Given the description of an element on the screen output the (x, y) to click on. 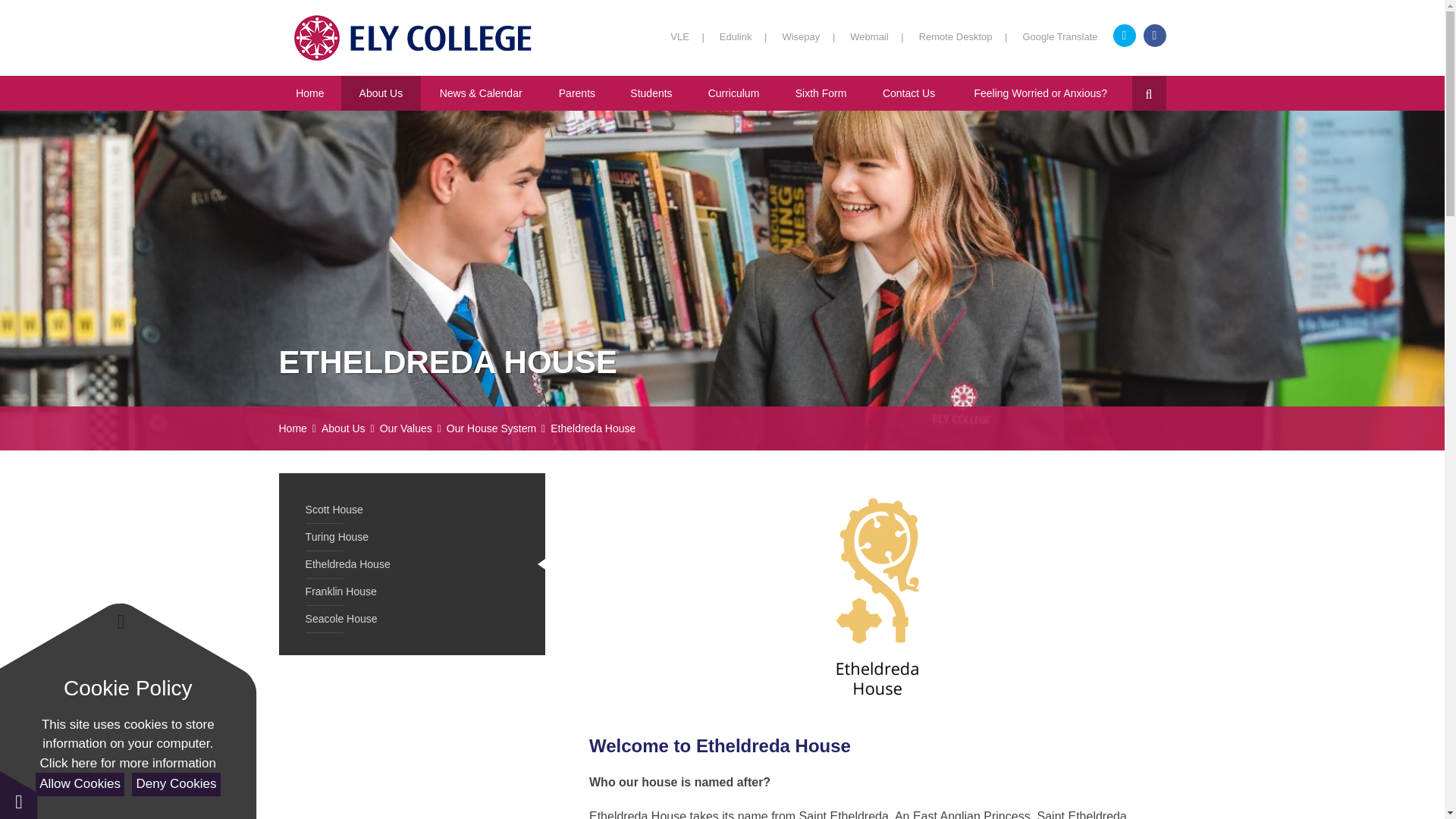
See cookie policy (127, 763)
Allow Cookies (78, 784)
Home (310, 93)
Deny Cookies (175, 784)
About Us (380, 93)
